Given the description of an element on the screen output the (x, y) to click on. 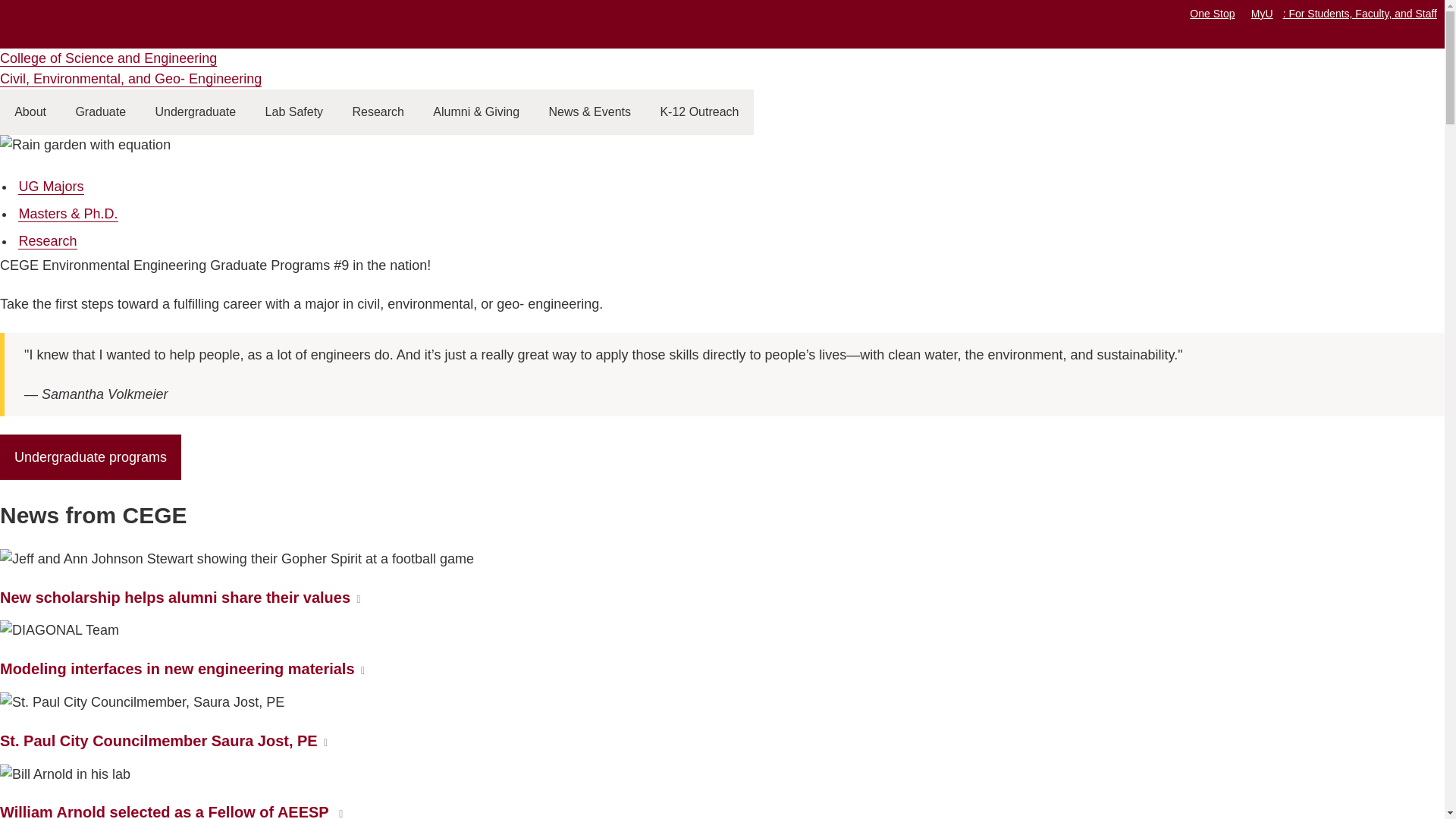
Undergraduate (194, 112)
College of Science and Engineering (108, 58)
Graduate (100, 112)
MyU: For Students, Faculty, and Staff (1343, 13)
One Stop (1211, 13)
About (30, 112)
Civil, Environmental, and Geo- Engineering (131, 78)
